Given the description of an element on the screen output the (x, y) to click on. 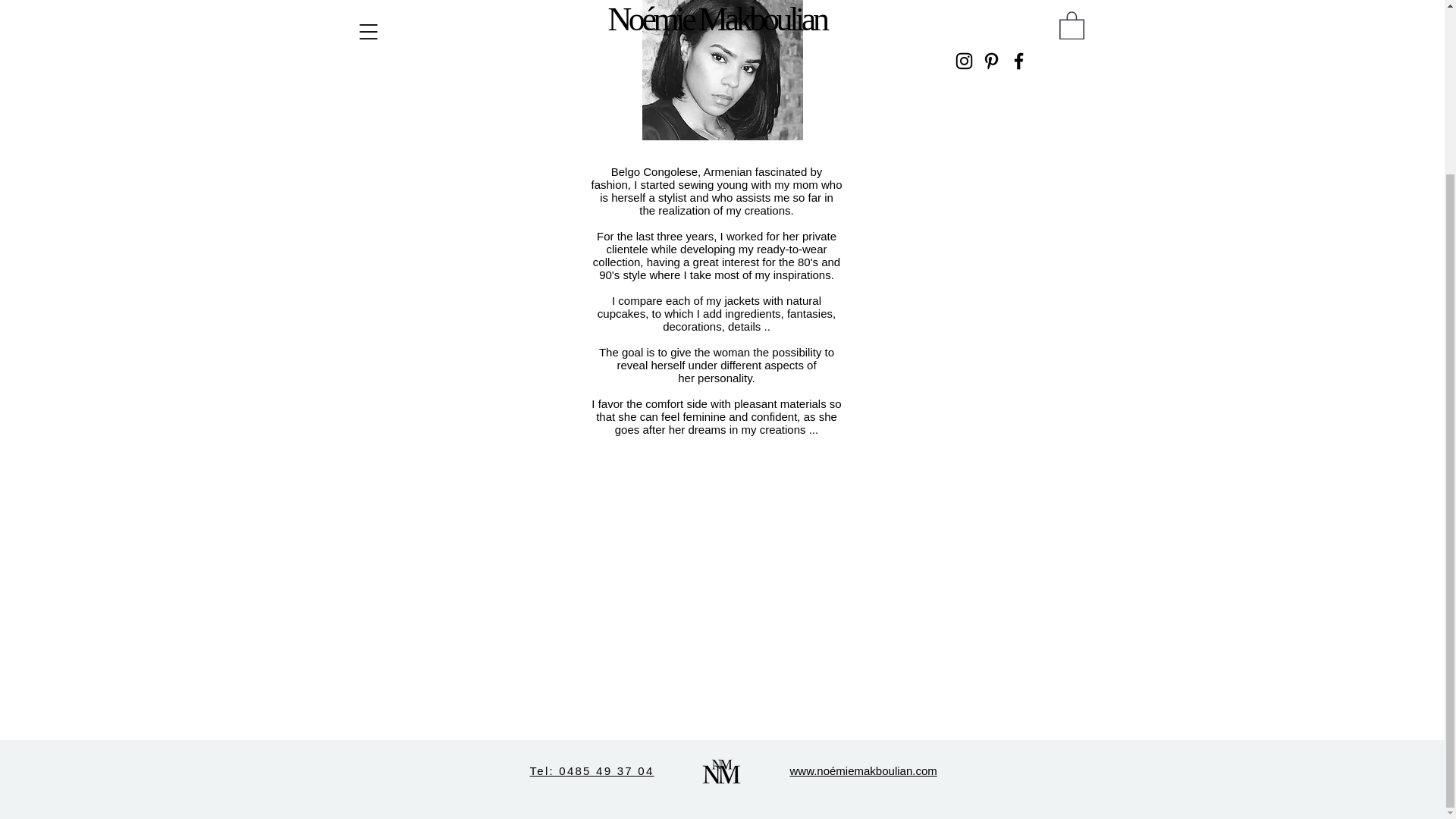
Tel: 0485 49 37 04 (591, 770)
